Given the description of an element on the screen output the (x, y) to click on. 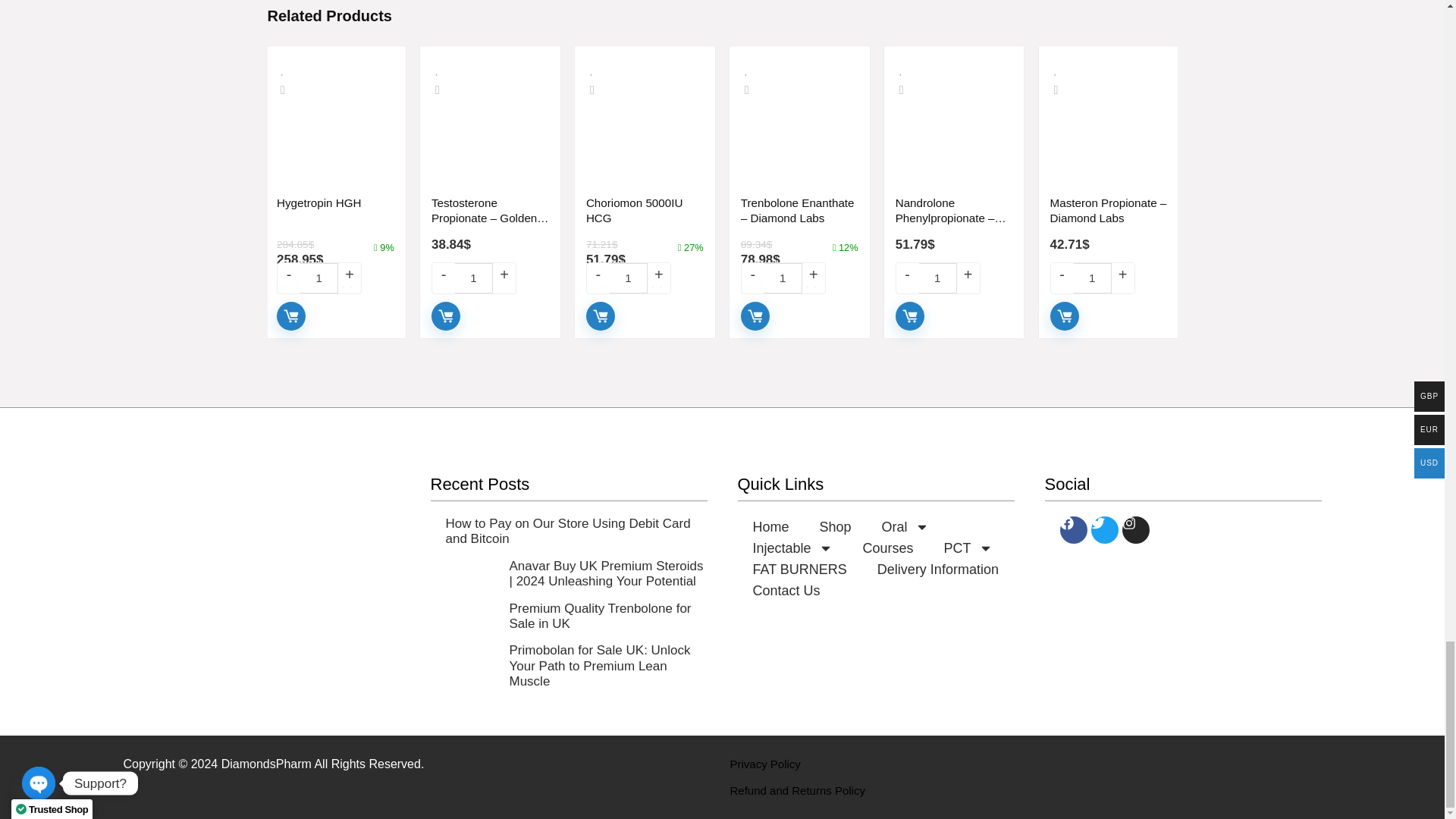
1 (628, 277)
- (598, 273)
1 (318, 277)
1 (1093, 277)
1 (937, 277)
Rated 0 out of 5 (644, 281)
Rated 0 out of 5 (335, 281)
1 (783, 277)
1 (473, 277)
- (907, 273)
Rated 0 out of 5 (489, 266)
Qty (318, 277)
- (1062, 273)
- (752, 273)
Qty (473, 277)
